Given the description of an element on the screen output the (x, y) to click on. 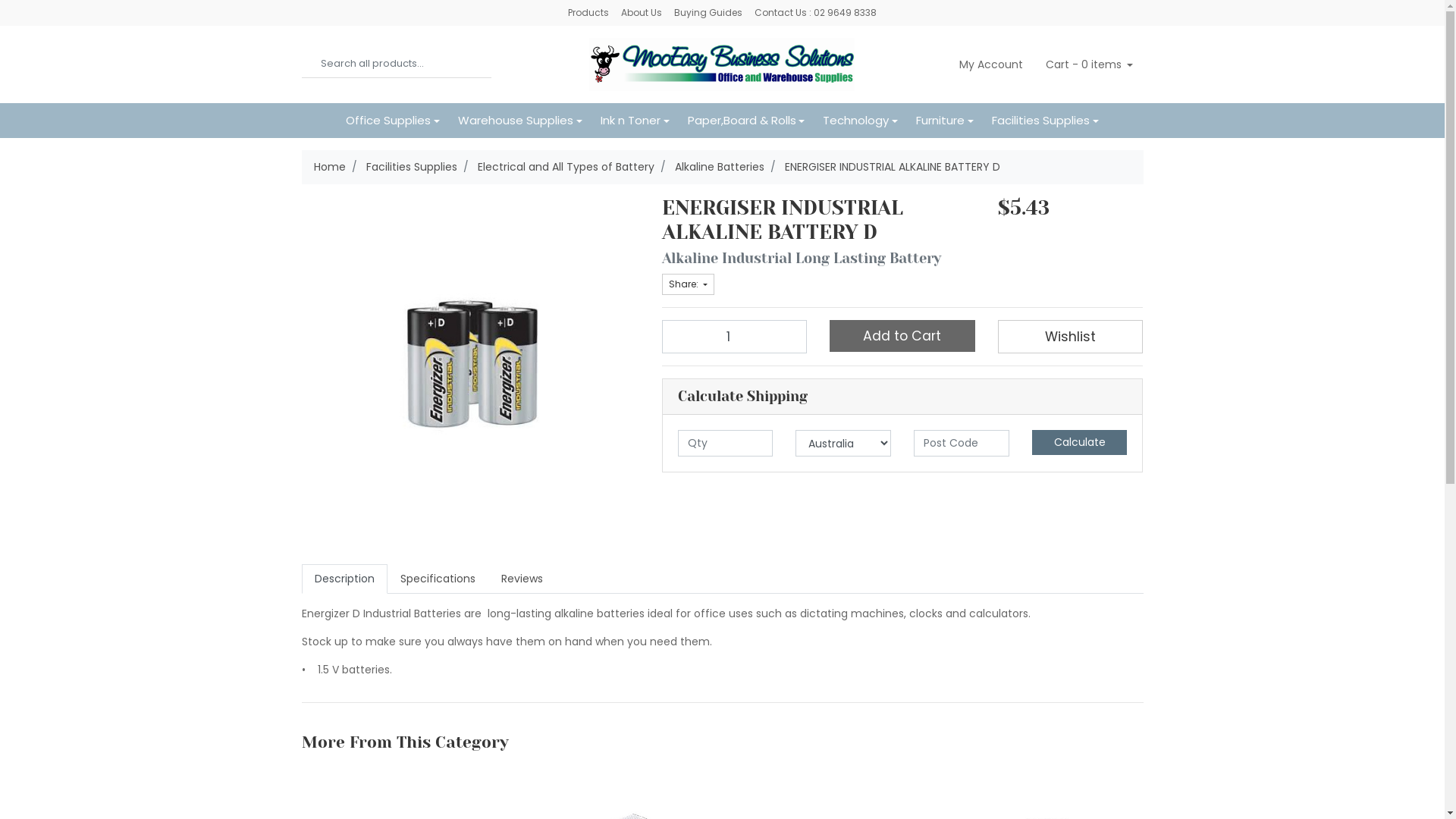
Products Element type: text (588, 12)
Add to Cart Element type: text (902, 335)
Contact Us : 02 9649 8338 Element type: text (815, 12)
About Us Element type: text (641, 12)
Specifications Element type: text (436, 578)
Mooeasy Business Solutions Element type: hover (721, 63)
Paper,Board & Rolls Element type: text (746, 120)
Calculate Element type: text (1079, 442)
Home Element type: text (329, 166)
Electrical and All Types of Battery Element type: text (565, 166)
Share: Element type: text (687, 283)
Skip to main content Element type: text (0, 0)
Description Element type: text (344, 578)
Search Element type: text (311, 63)
Ink n Toner Element type: text (634, 120)
Reviews Element type: text (521, 578)
My Account Element type: text (989, 64)
Wishlist Element type: text (1070, 336)
Cart - 0 items Element type: text (1087, 64)
Furniture Element type: text (944, 120)
Facilities Supplies Element type: text (1044, 120)
ENERGISER INDUSTRIAL ALKALINE BATTERY D Element type: text (891, 166)
Office Supplies Element type: text (392, 120)
Facilities Supplies Element type: text (410, 166)
Alkaline Batteries Element type: text (719, 166)
Warehouse Supplies Element type: text (519, 120)
Technology Element type: text (859, 120)
Buying Guides Element type: text (708, 12)
